Given the description of an element on the screen output the (x, y) to click on. 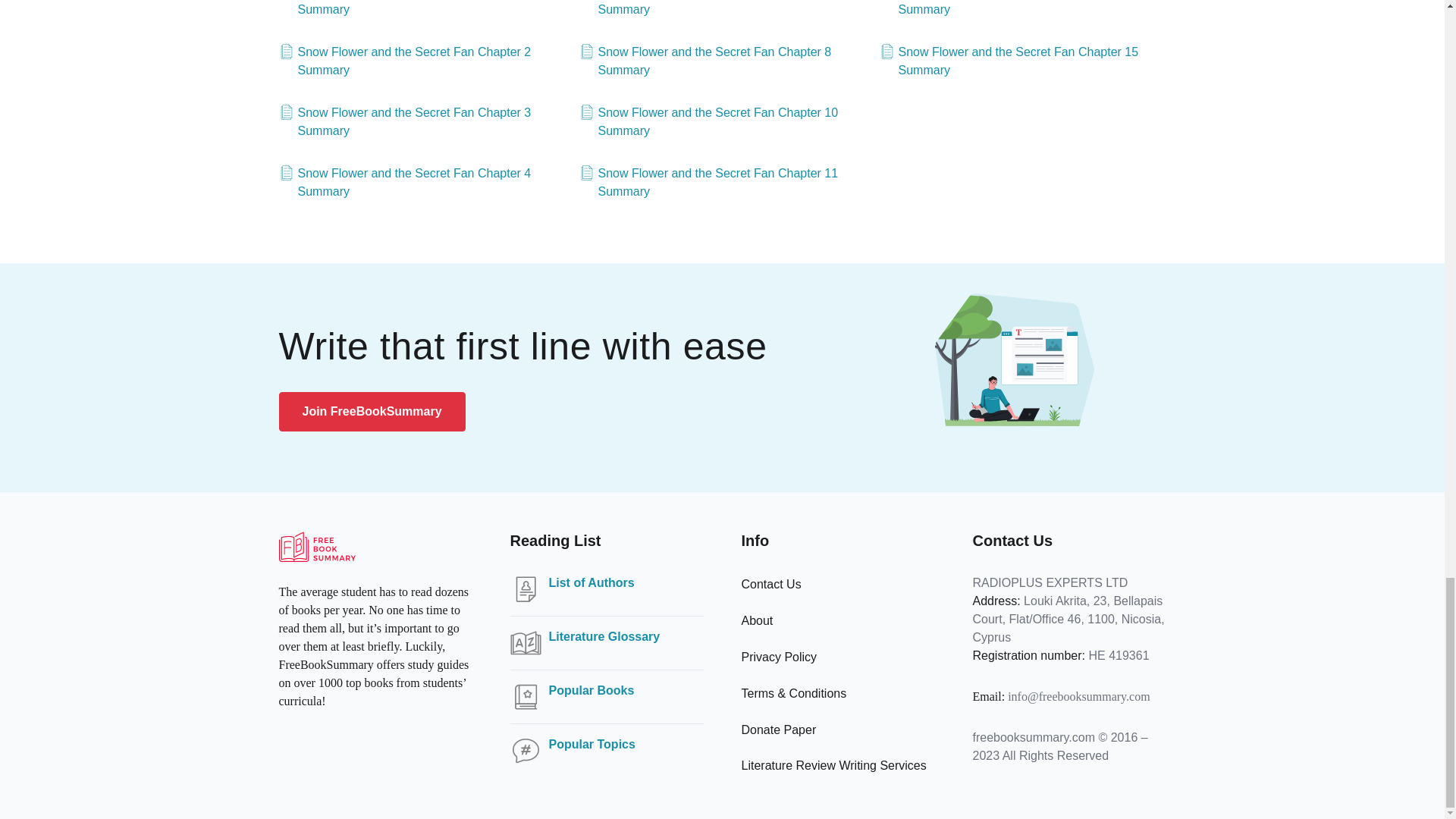
Snow Flower and the Secret Fan Chapter 2 Summary (422, 61)
Snow Flower and the Secret Fan Chapter 11 Summary (722, 182)
List of Authors (591, 583)
Contact Us (771, 584)
Privacy Policy (778, 656)
Snow Flower and the Secret Fan Chapter 10 Summary (722, 122)
Snow Flower and the Secret Fan Chapter 3 Summary (422, 122)
Snow Flower and the Secret Fan Chapter 15 Summary (1022, 61)
Snow Flower and the Secret Fan Chapter 1 Summary (422, 9)
About (757, 620)
Snow Flower and the Secret Fan Chapter 8 Summary (722, 61)
Literature Glossary (604, 637)
Snow Flower and the Secret Fan Chapter 4 Summary (422, 182)
Popular Books (591, 690)
Donate Paper (778, 729)
